Given the description of an element on the screen output the (x, y) to click on. 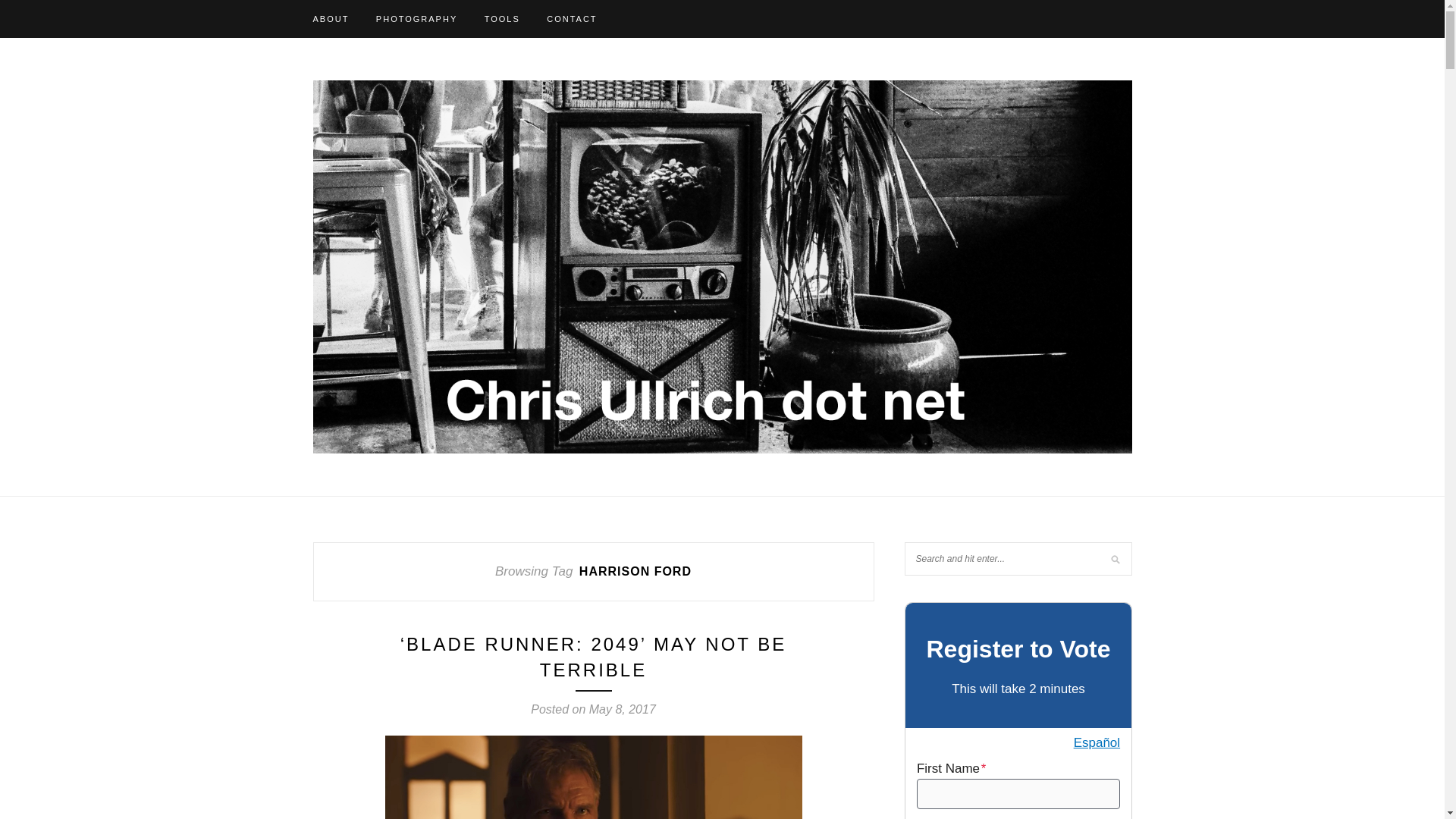
ABOUT (331, 18)
TOOLS (501, 18)
CONTACT (571, 18)
PHOTOGRAPHY (416, 18)
